Given the description of an element on the screen output the (x, y) to click on. 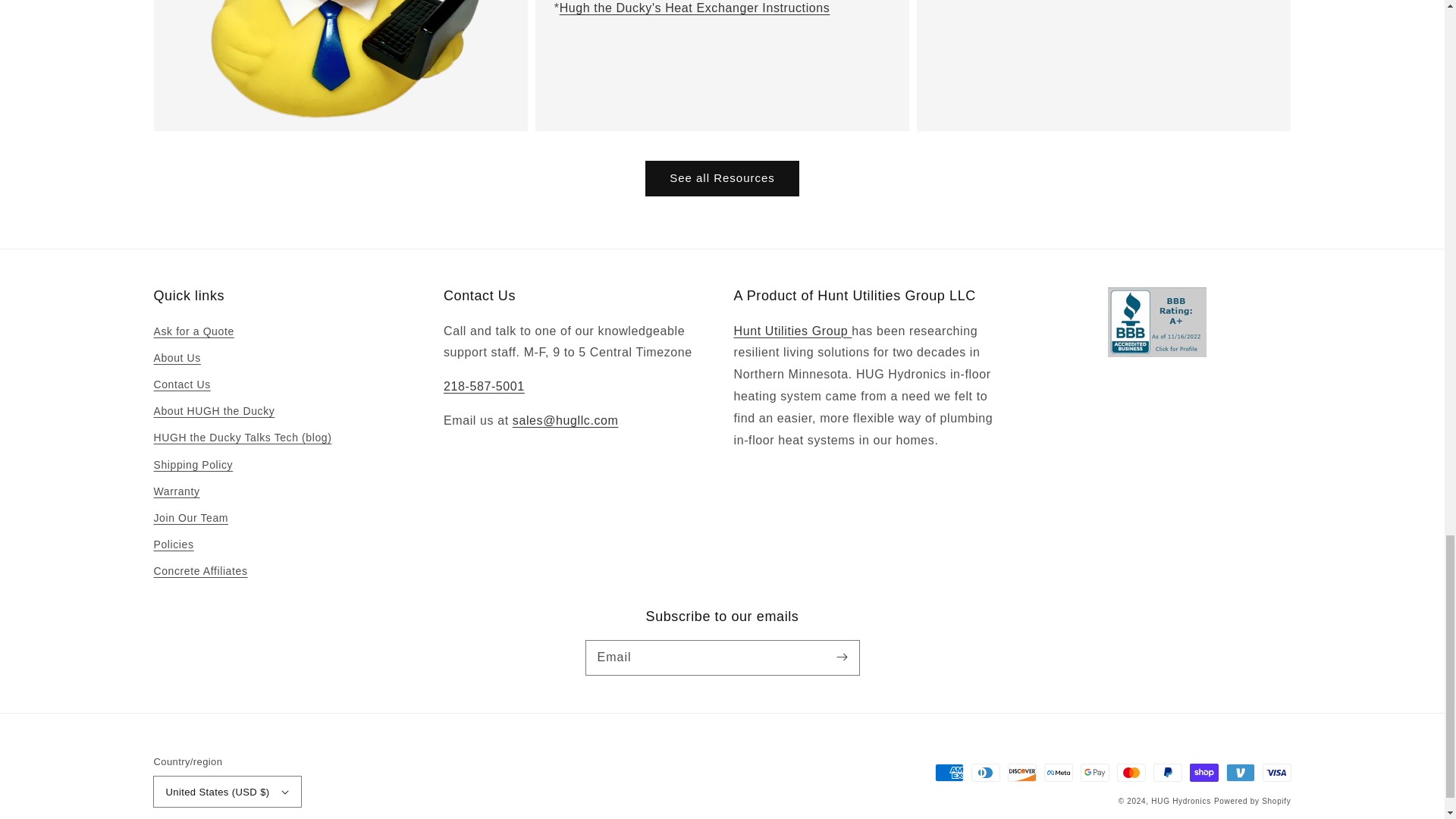
Hugh the Ducky's Heat Exchanger Instructions (694, 7)
